Given the description of an element on the screen output the (x, y) to click on. 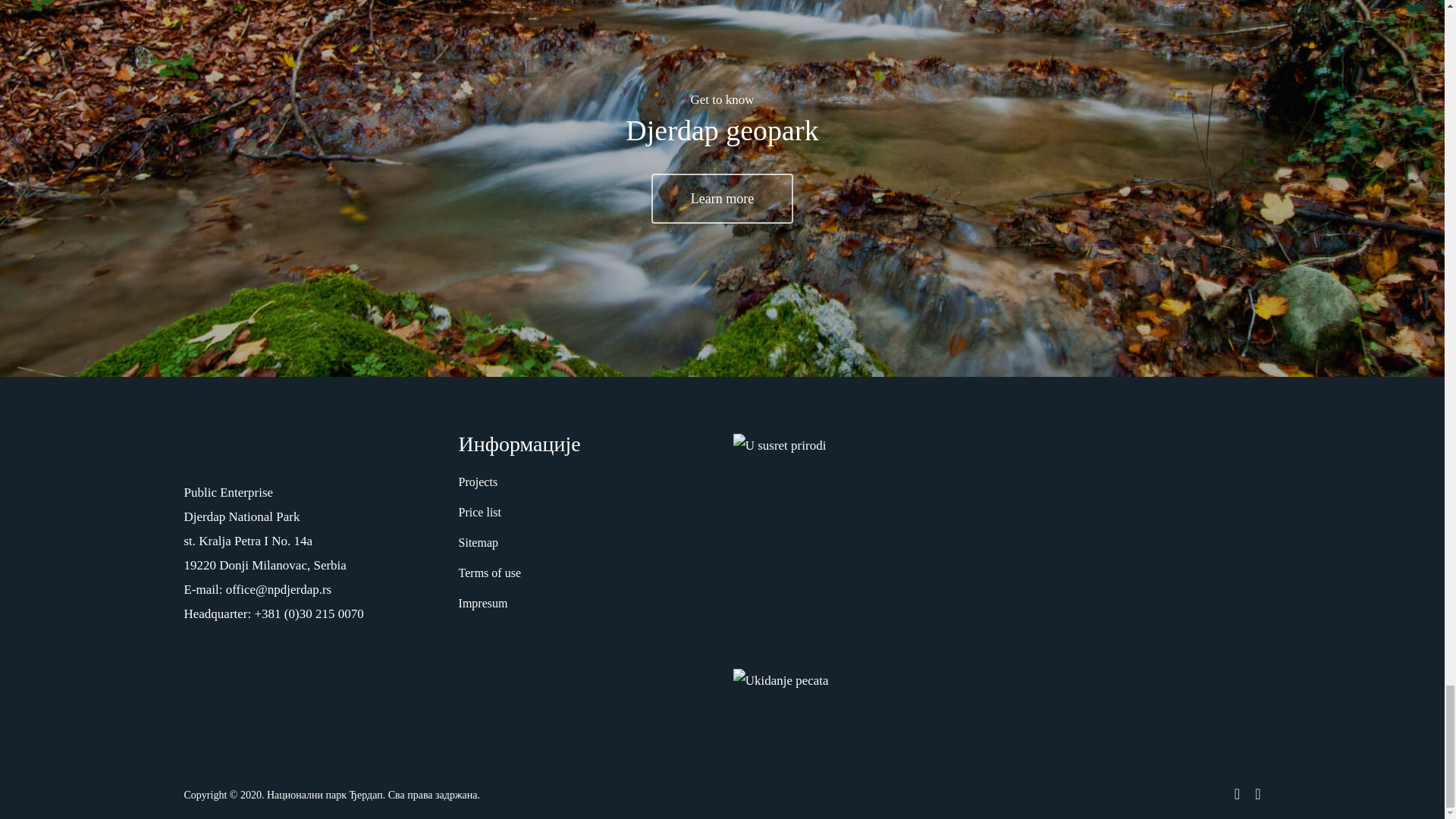
Learn more (721, 198)
Projects (584, 482)
Impresum (584, 603)
Sitemap (584, 542)
Price list (584, 512)
Terms of use (584, 573)
